Given the description of an element on the screen output the (x, y) to click on. 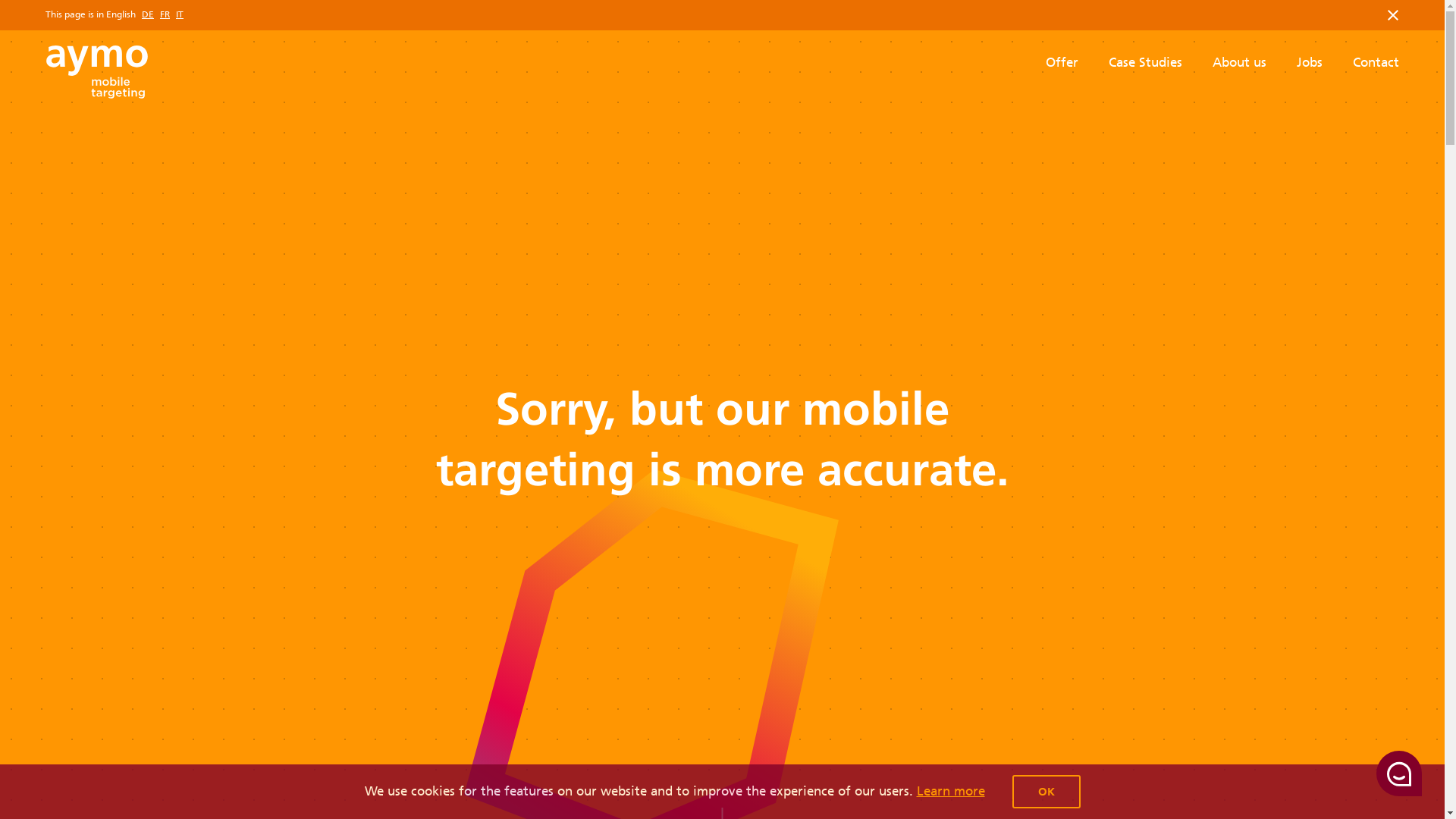
Case Studies Element type: text (1145, 62)
DE Element type: text (147, 15)
Jobs Element type: text (1309, 62)
FR Element type: text (164, 15)
Learn more Element type: text (950, 790)
Contact Element type: text (1375, 62)
About us Element type: text (1239, 62)
IT Element type: text (179, 15)
OK Element type: text (1045, 791)
Home Element type: hover (96, 71)
Offer Element type: text (1061, 62)
